Given the description of an element on the screen output the (x, y) to click on. 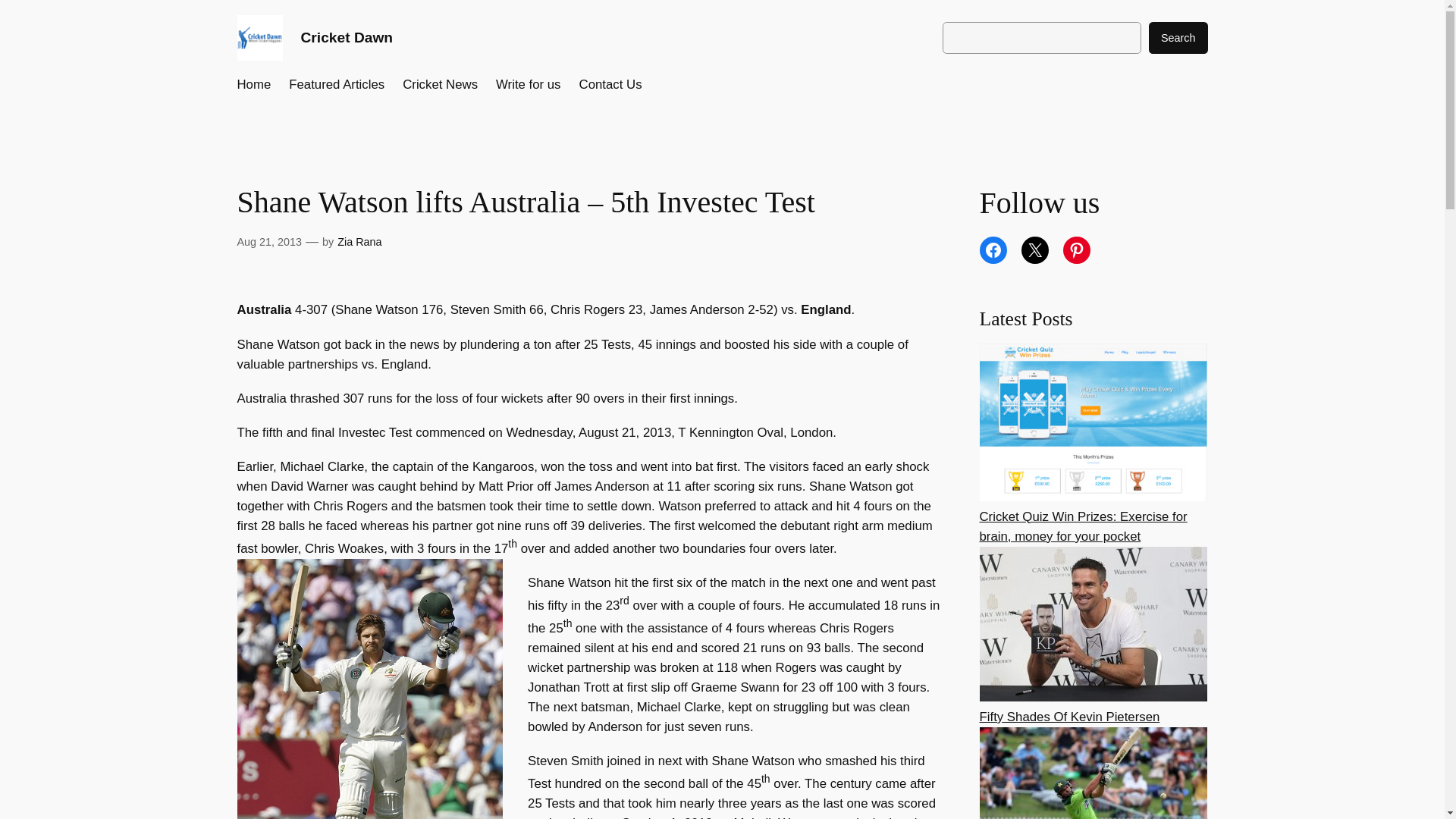
Facebook (993, 249)
X (1035, 249)
Search (1178, 38)
Fifty Shades Of Kevin Pietersen (1069, 716)
Featured Articles (336, 85)
Write for us (528, 85)
Contact Us (610, 85)
Cricket News (440, 85)
Zia Rana (359, 241)
Aug 21, 2013 (268, 241)
Home (252, 85)
Pinterest (1076, 249)
Cricket Dawn (346, 37)
